Given the description of an element on the screen output the (x, y) to click on. 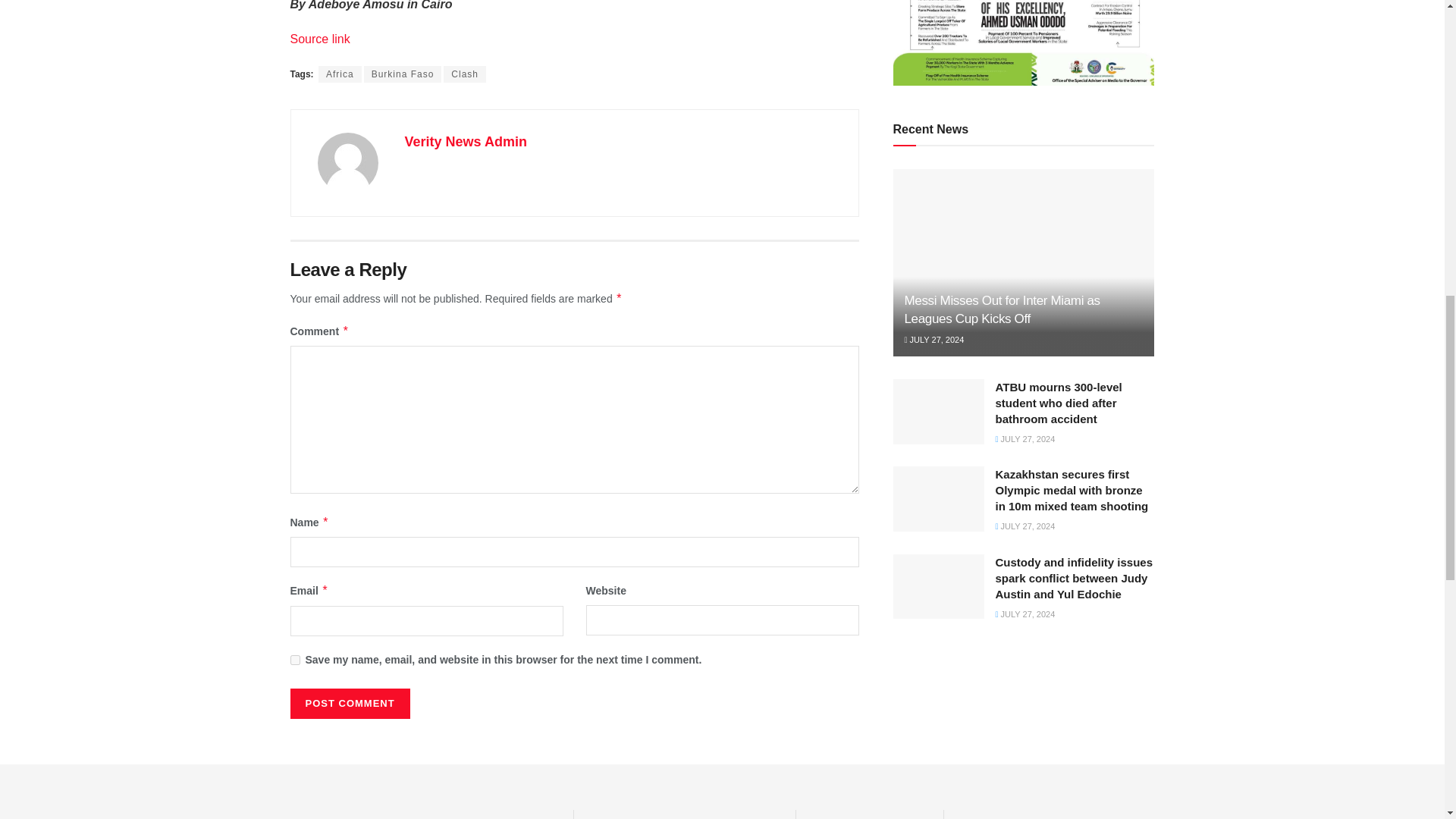
yes (294, 660)
Post Comment (349, 703)
